Given the description of an element on the screen output the (x, y) to click on. 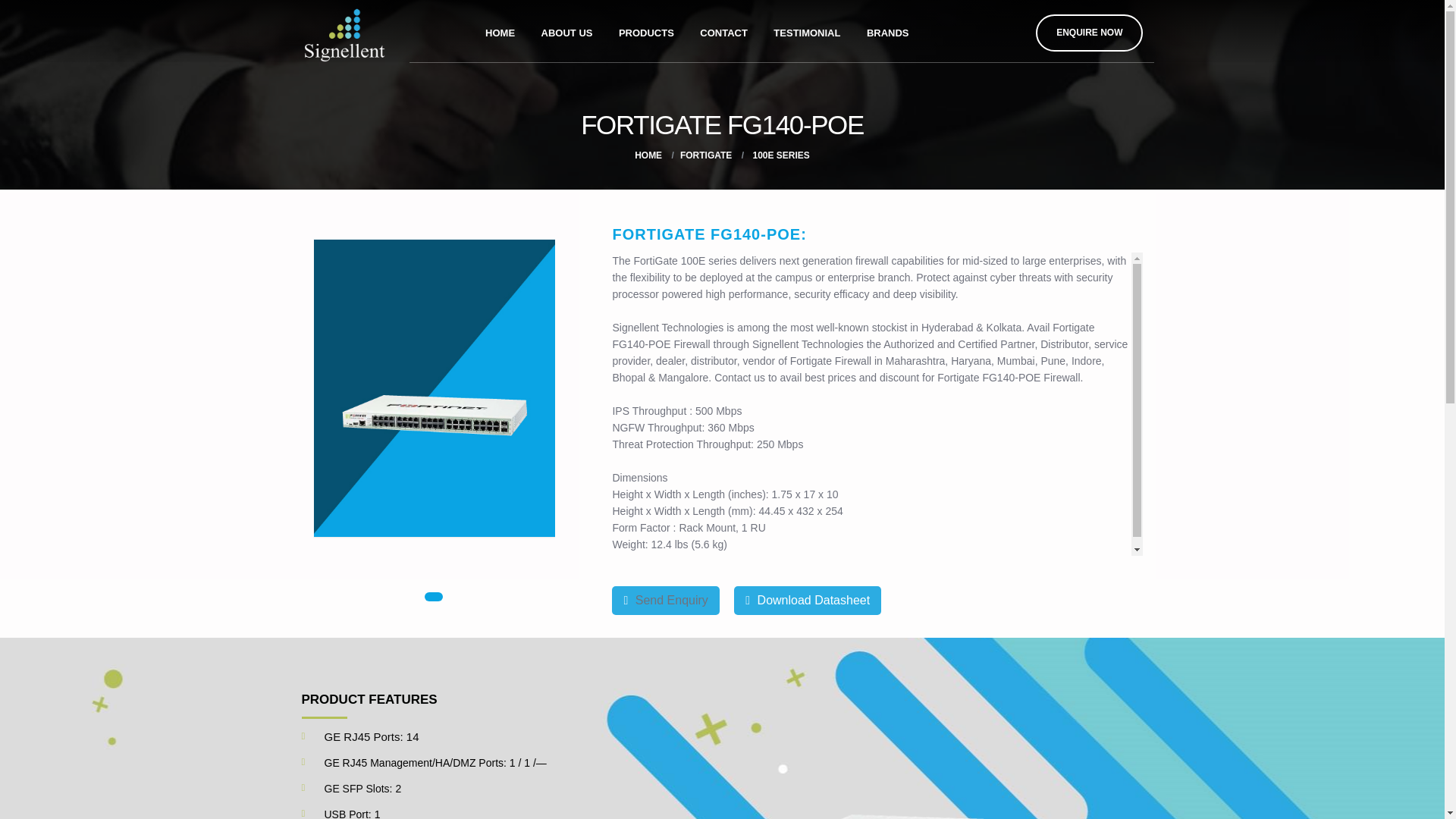
BRANDS (888, 30)
PRODUCTS (646, 30)
ENQUIRE NOW (1088, 32)
TESTIMONIAL (806, 30)
Download Datasheet (807, 600)
Send Enquiry (665, 600)
FORTIGATE (705, 155)
HOME (648, 155)
ABOUT US (566, 30)
 100E SERIES (779, 155)
